Given the description of an element on the screen output the (x, y) to click on. 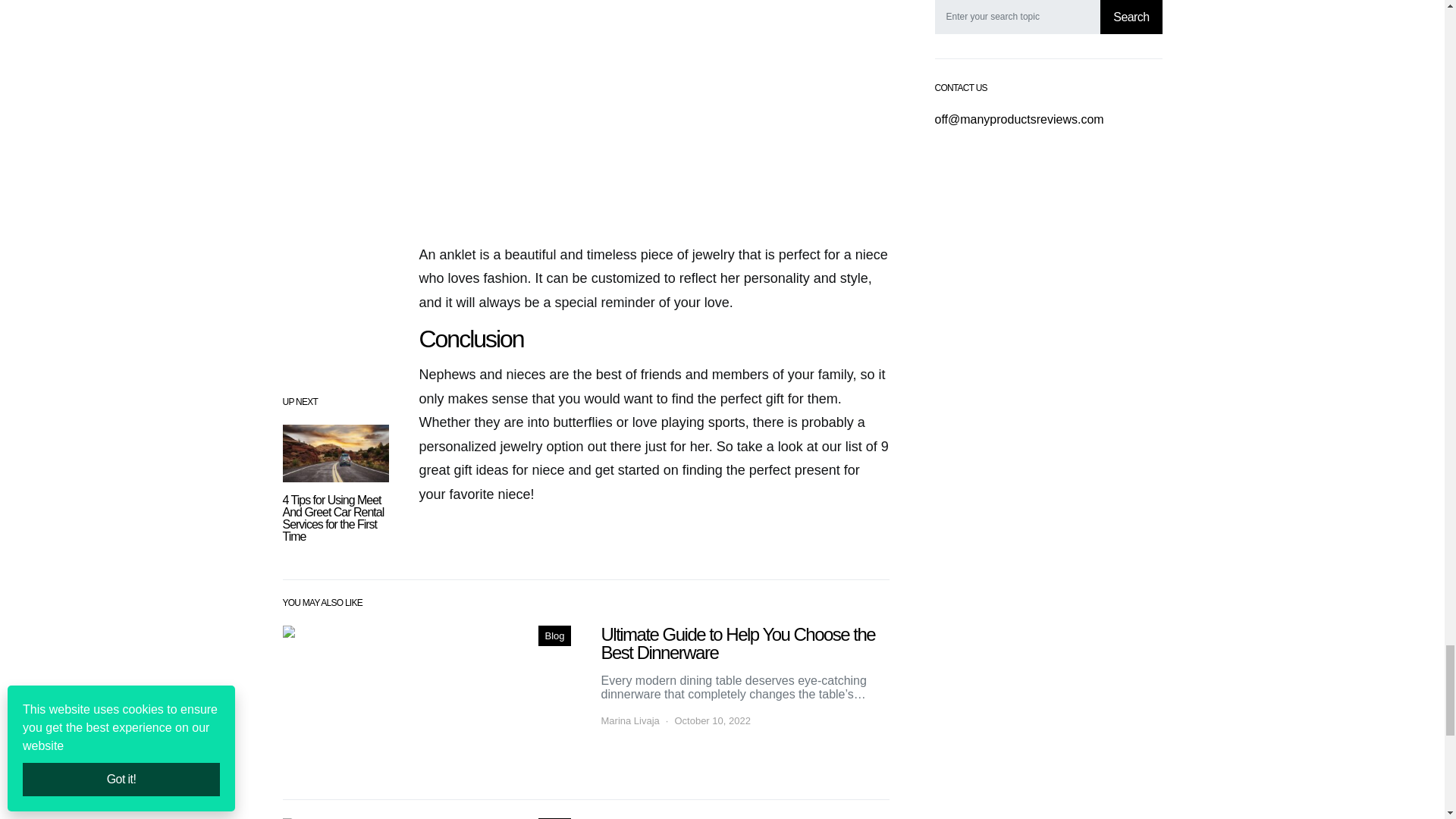
Blog (554, 636)
9 Personalized Jewelry Gift Ideas for your Niece (426, 703)
9 Personalized Jewelry Gift Ideas for your Niece (335, 453)
Marina Livaja (629, 720)
9 Personalized Jewelry Gift Ideas for your Niece (653, 115)
View all posts by Marina Livaja (629, 720)
